Given the description of an element on the screen output the (x, y) to click on. 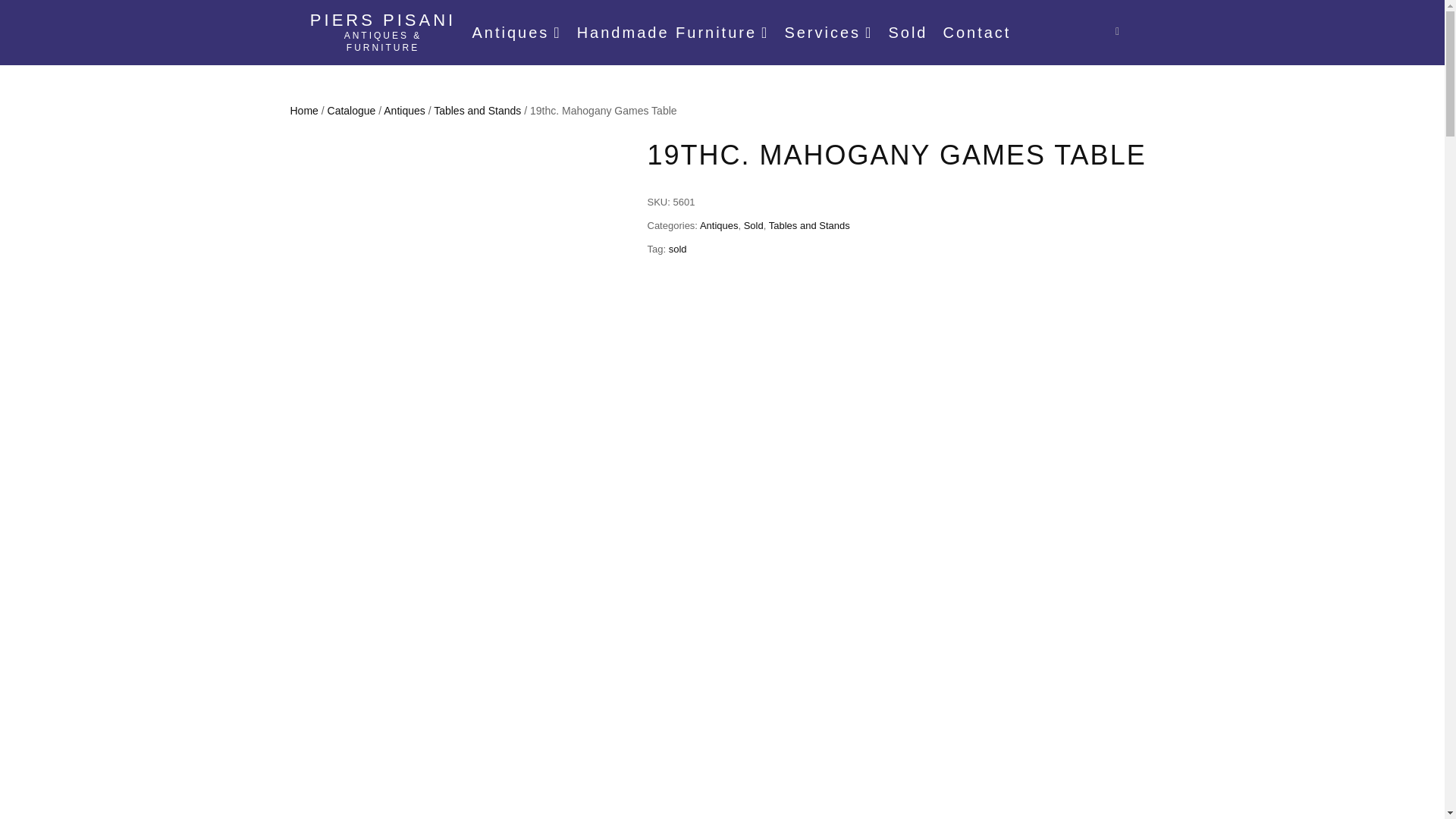
Catalogue (351, 110)
Piers Pisani (382, 20)
Antiques (516, 32)
Contact (975, 32)
Handmade Furniture (673, 32)
Antiques (404, 110)
Services (828, 32)
PIERS PISANI (382, 20)
Tables and Stands (477, 110)
Sold (907, 32)
Home (303, 110)
